Given the description of an element on the screen output the (x, y) to click on. 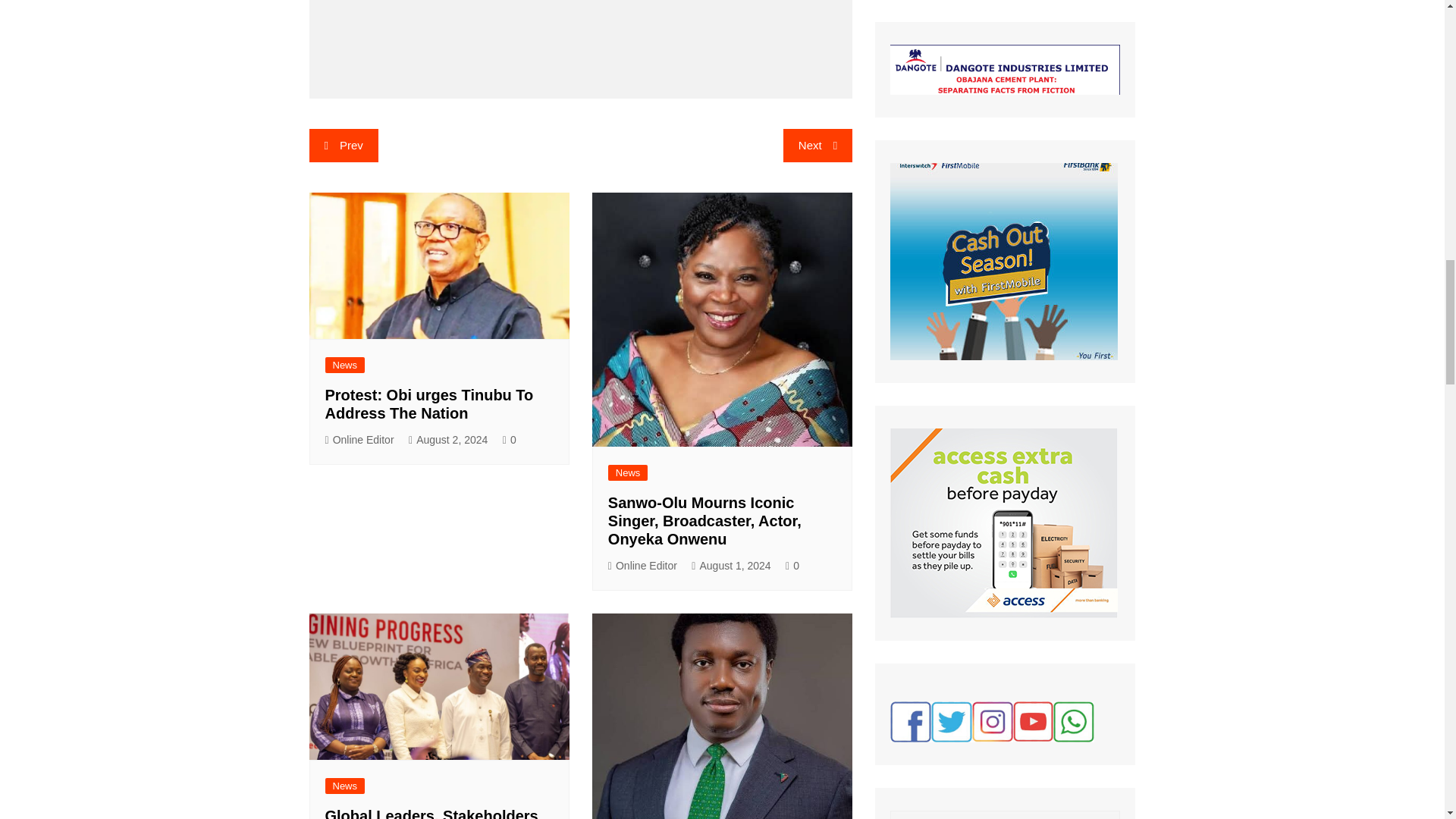
From All of Us (1003, 523)
